Given the description of an element on the screen output the (x, y) to click on. 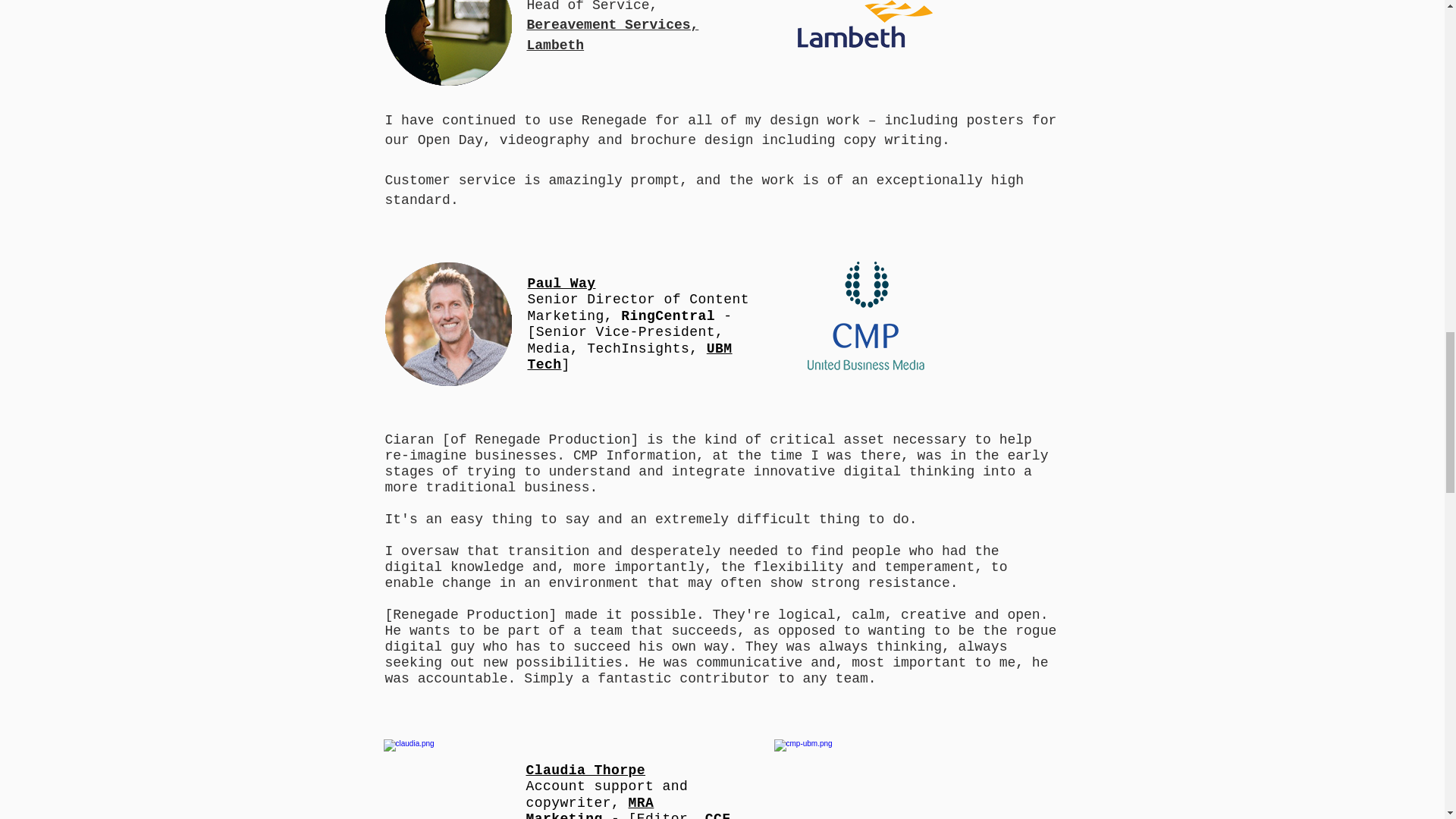
MRA Marketing (589, 807)
UBM Tech (629, 357)
Claudia Thorpe (585, 769)
Paul Way (561, 283)
Bereavement Services, Lambeth (611, 34)
